Given the description of an element on the screen output the (x, y) to click on. 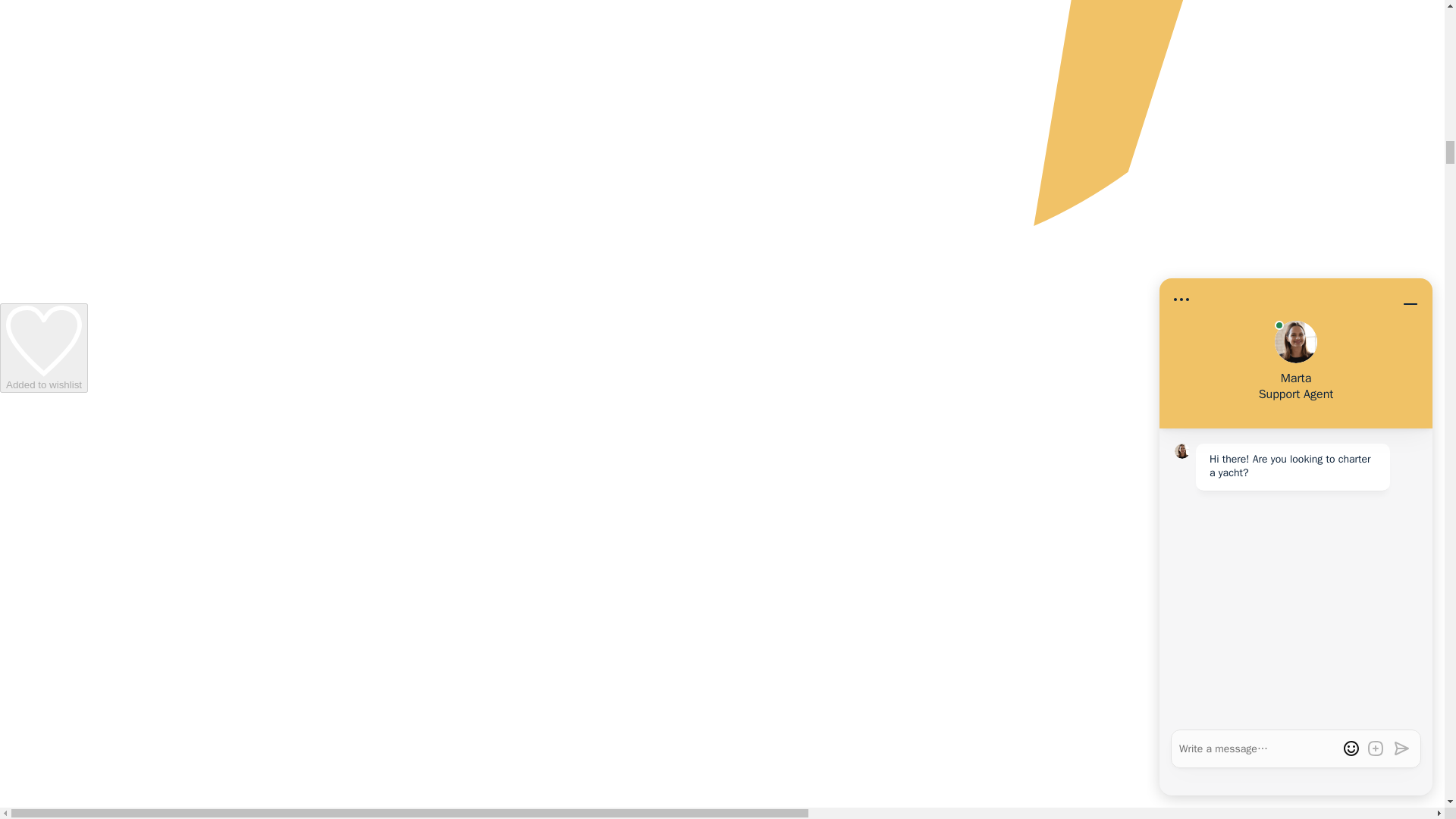
icon-heart (43, 340)
